Given the description of an element on the screen output the (x, y) to click on. 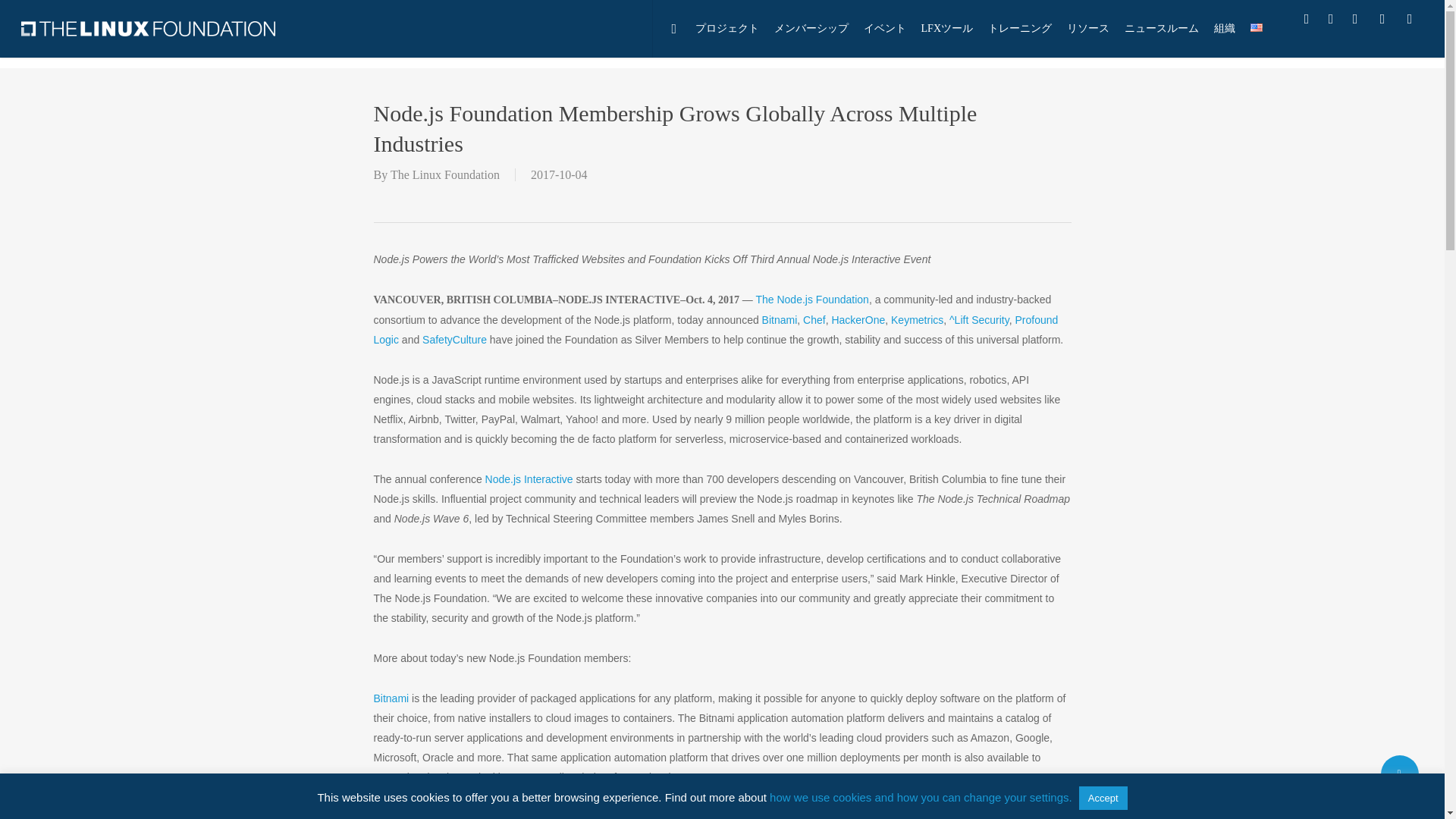
English (1256, 27)
search (680, 28)
